Given the description of an element on the screen output the (x, y) to click on. 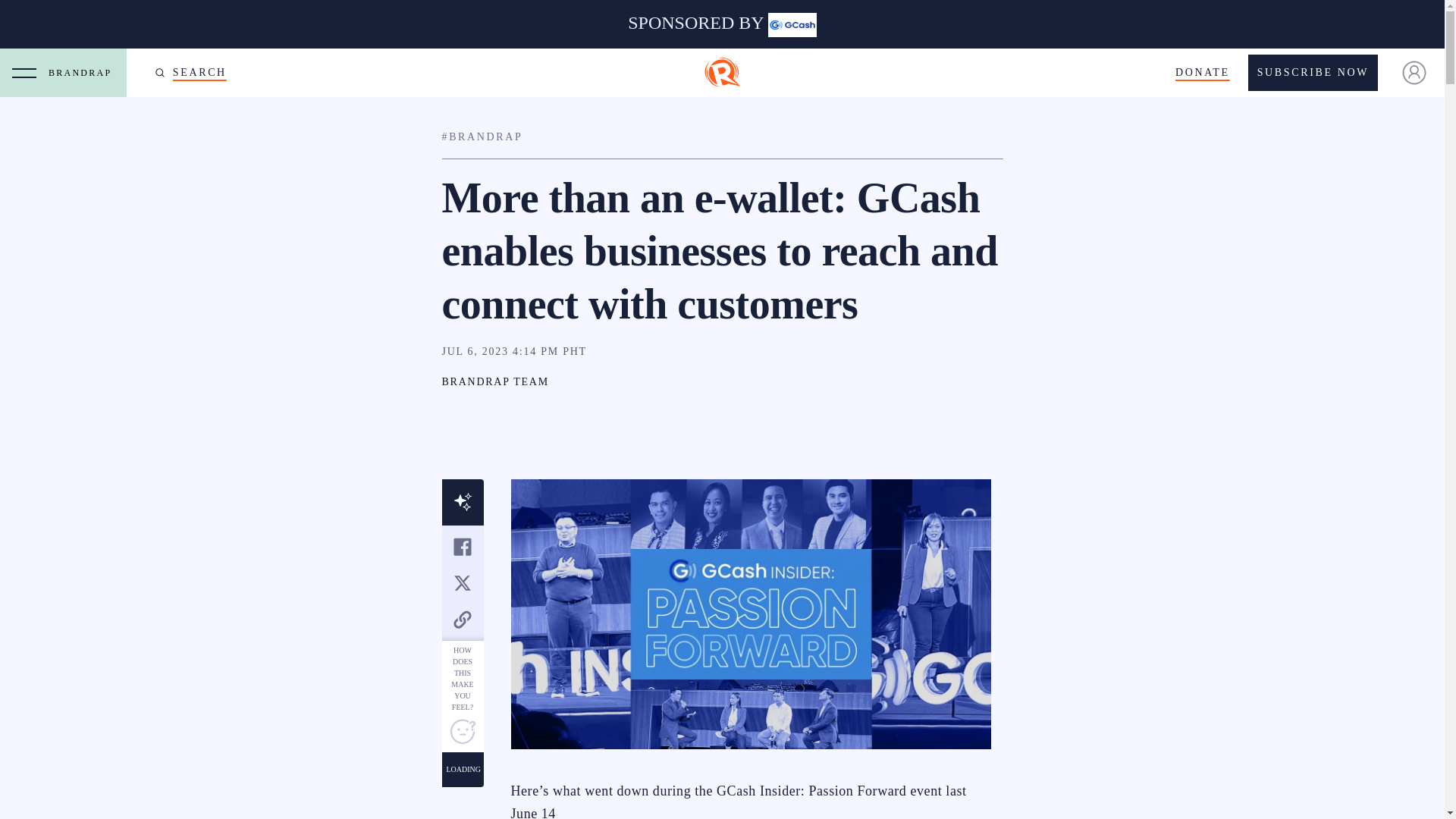
SPONSORED BY (721, 23)
BRANDRAP (83, 72)
OPEN NAVIGATION (24, 72)
